Given the description of an element on the screen output the (x, y) to click on. 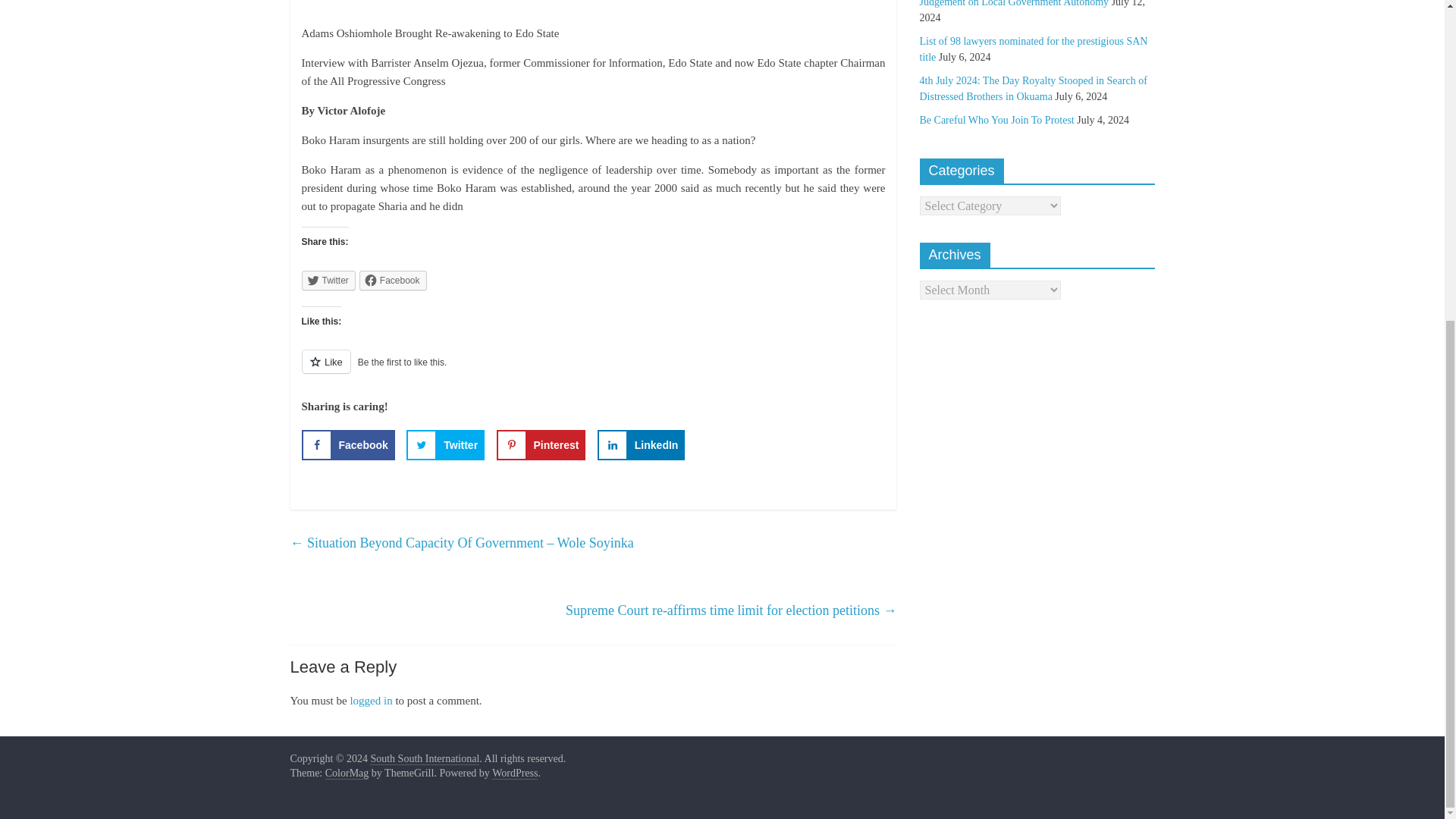
Share on Facebook (347, 444)
Click to share on Twitter (328, 280)
Click to share on Facebook (392, 280)
